Given the description of an element on the screen output the (x, y) to click on. 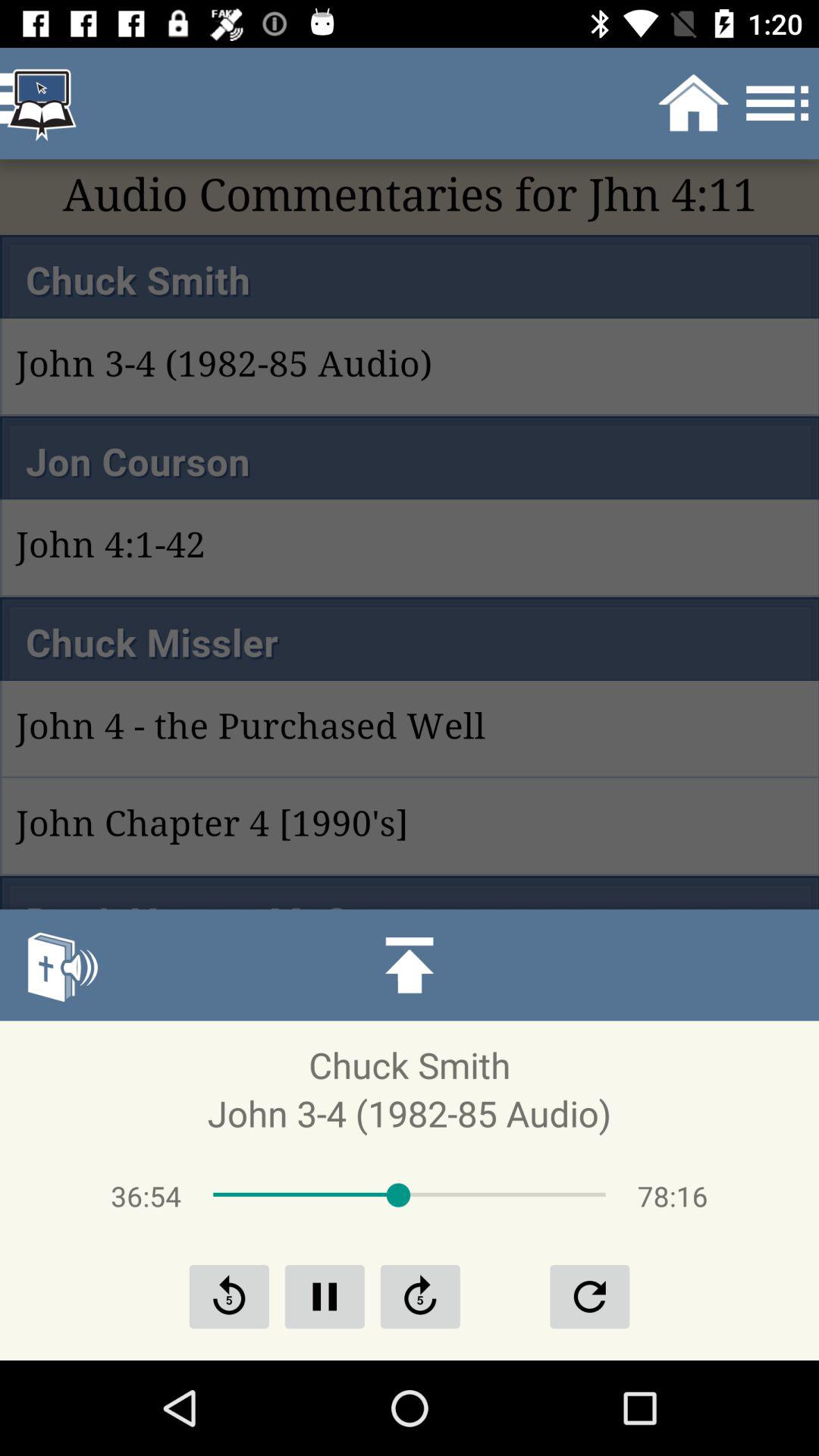
go back (228, 1296)
